Given the description of an element on the screen output the (x, y) to click on. 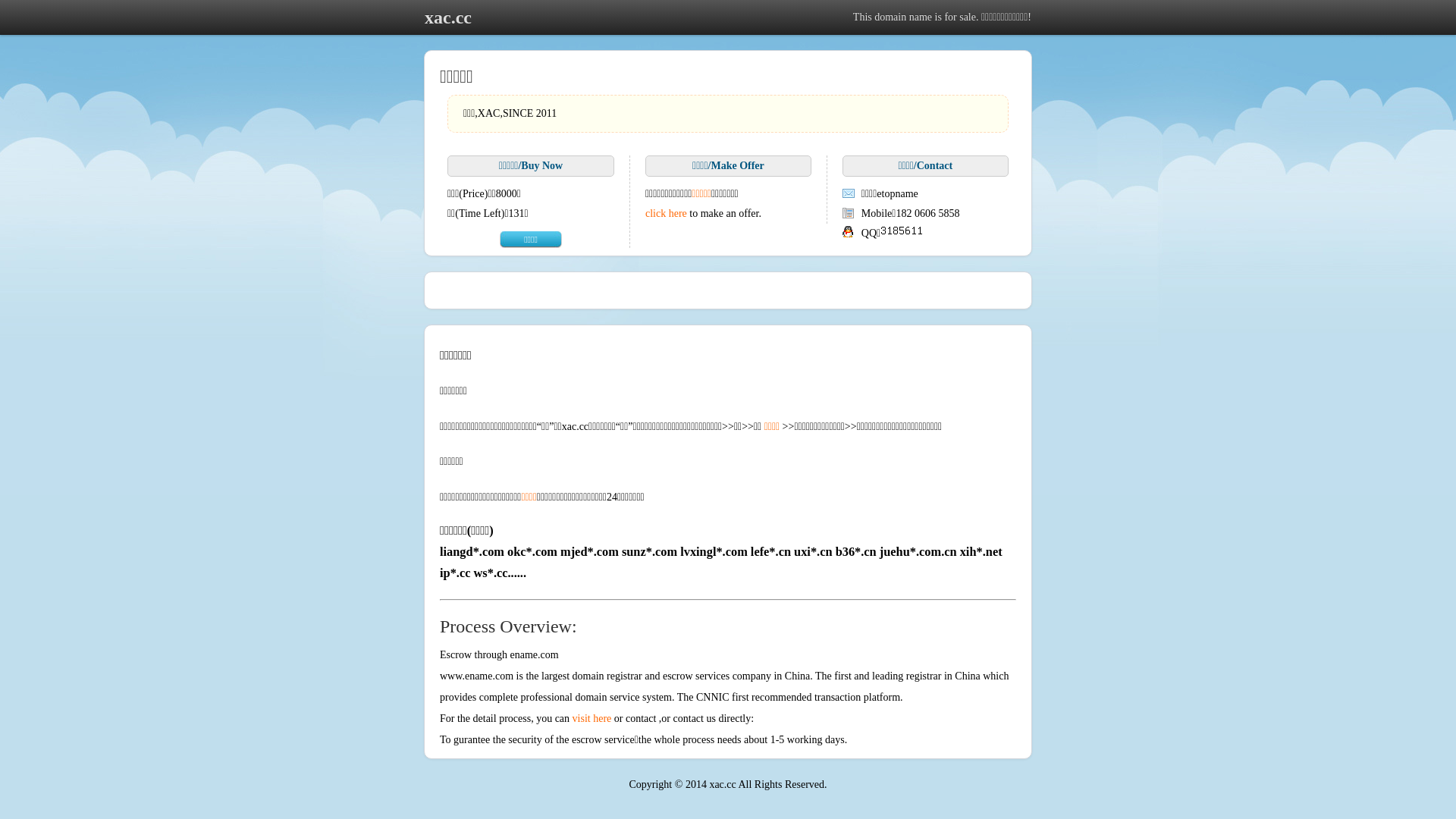
visit here Element type: text (591, 718)
click here Element type: text (666, 213)
